Given the description of an element on the screen output the (x, y) to click on. 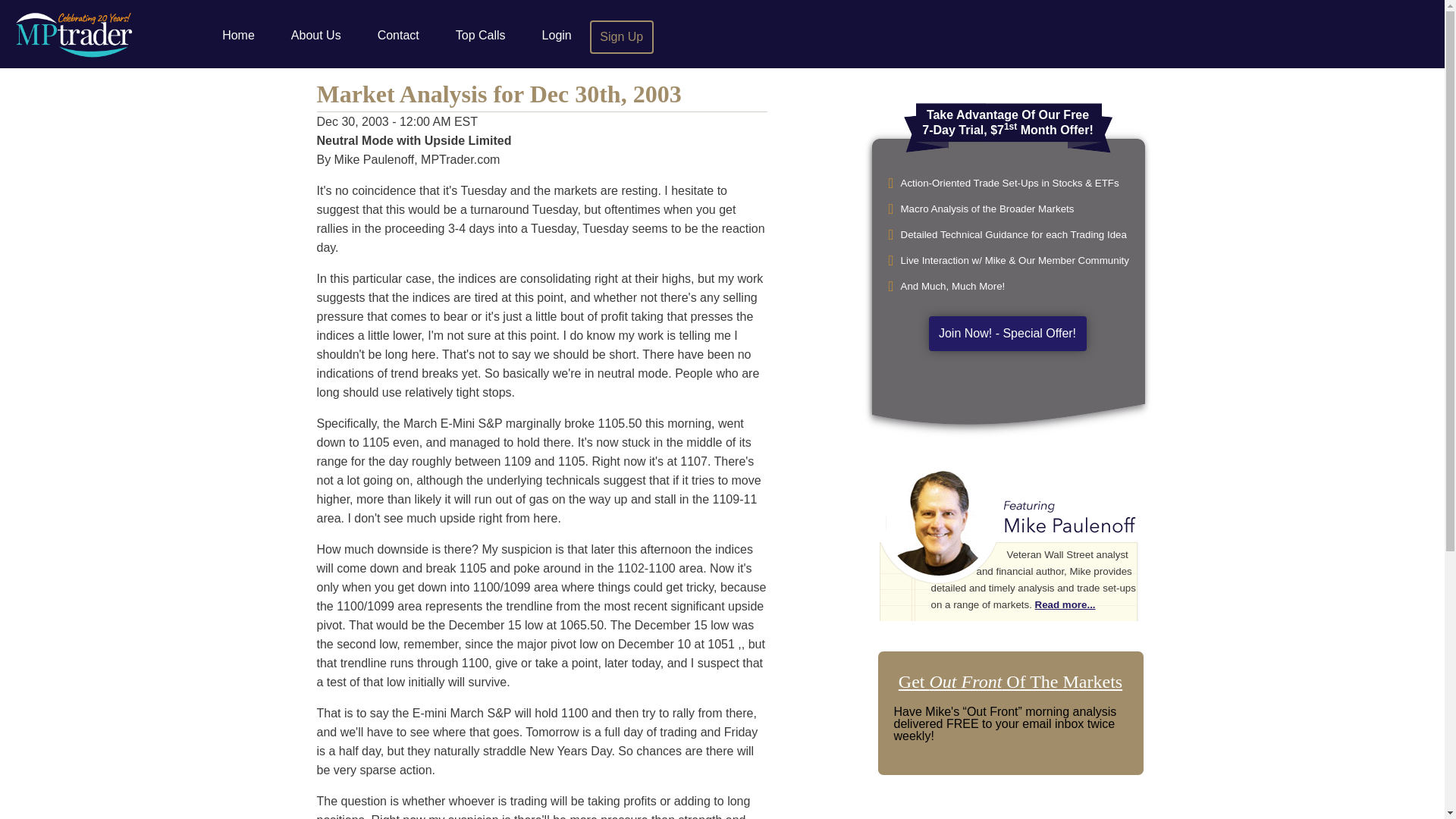
Contact (398, 36)
About Us (316, 36)
Sign Up (621, 36)
Login (556, 36)
Read more... (1065, 604)
Join Now! - Special Offer! (1007, 333)
Top Calls (481, 36)
Get Out Front Of The Markets (1010, 681)
Home (238, 36)
